Given the description of an element on the screen output the (x, y) to click on. 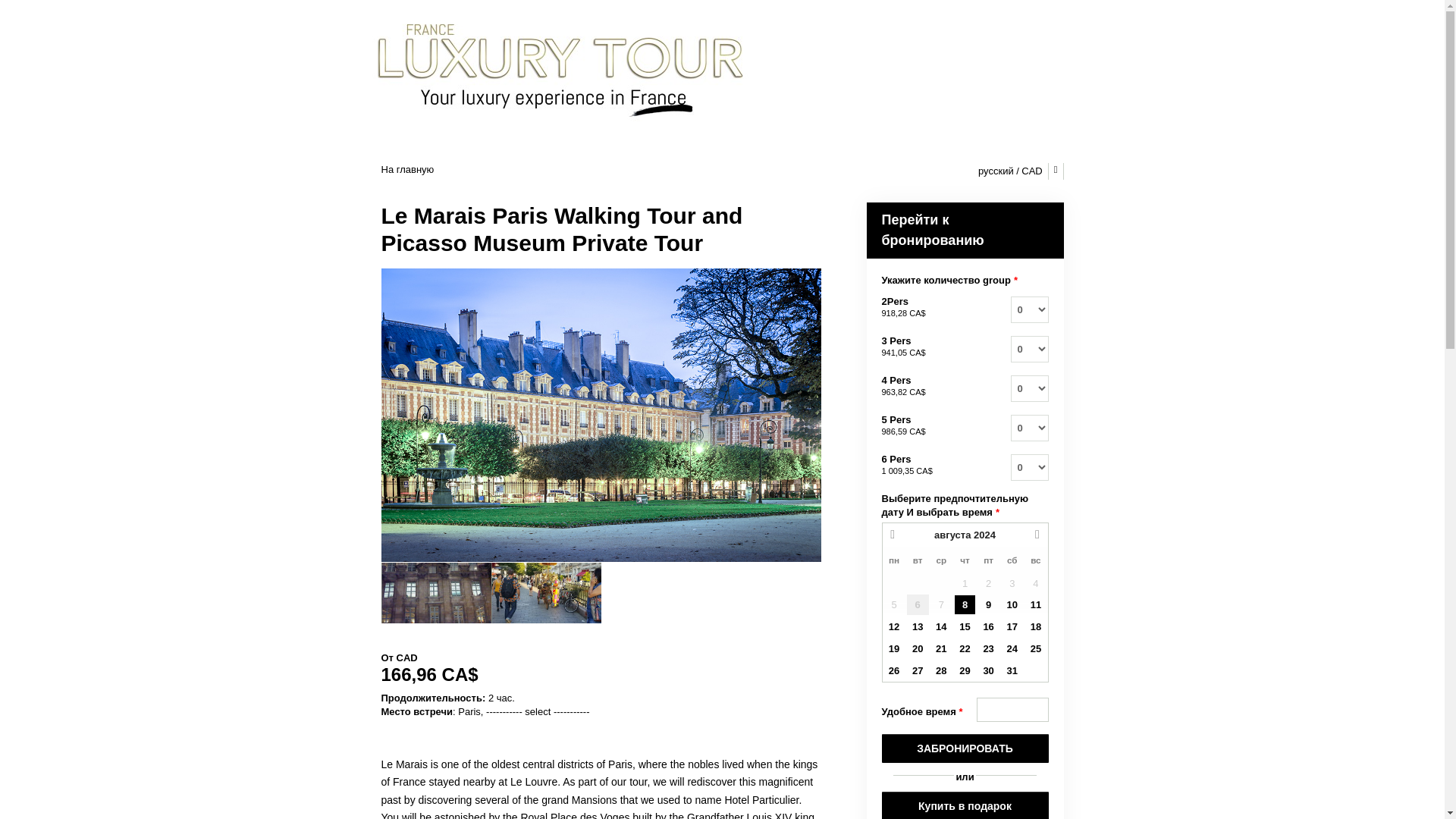
Estimated conversion from 605 (902, 312)
Estimated conversion from 620 (902, 352)
Estimated conversion from 650 (902, 430)
Estimated conversion from 110 (600, 674)
Estimated conversion from 665 (905, 470)
Estimated conversion from 635 (902, 391)
